Given the description of an element on the screen output the (x, y) to click on. 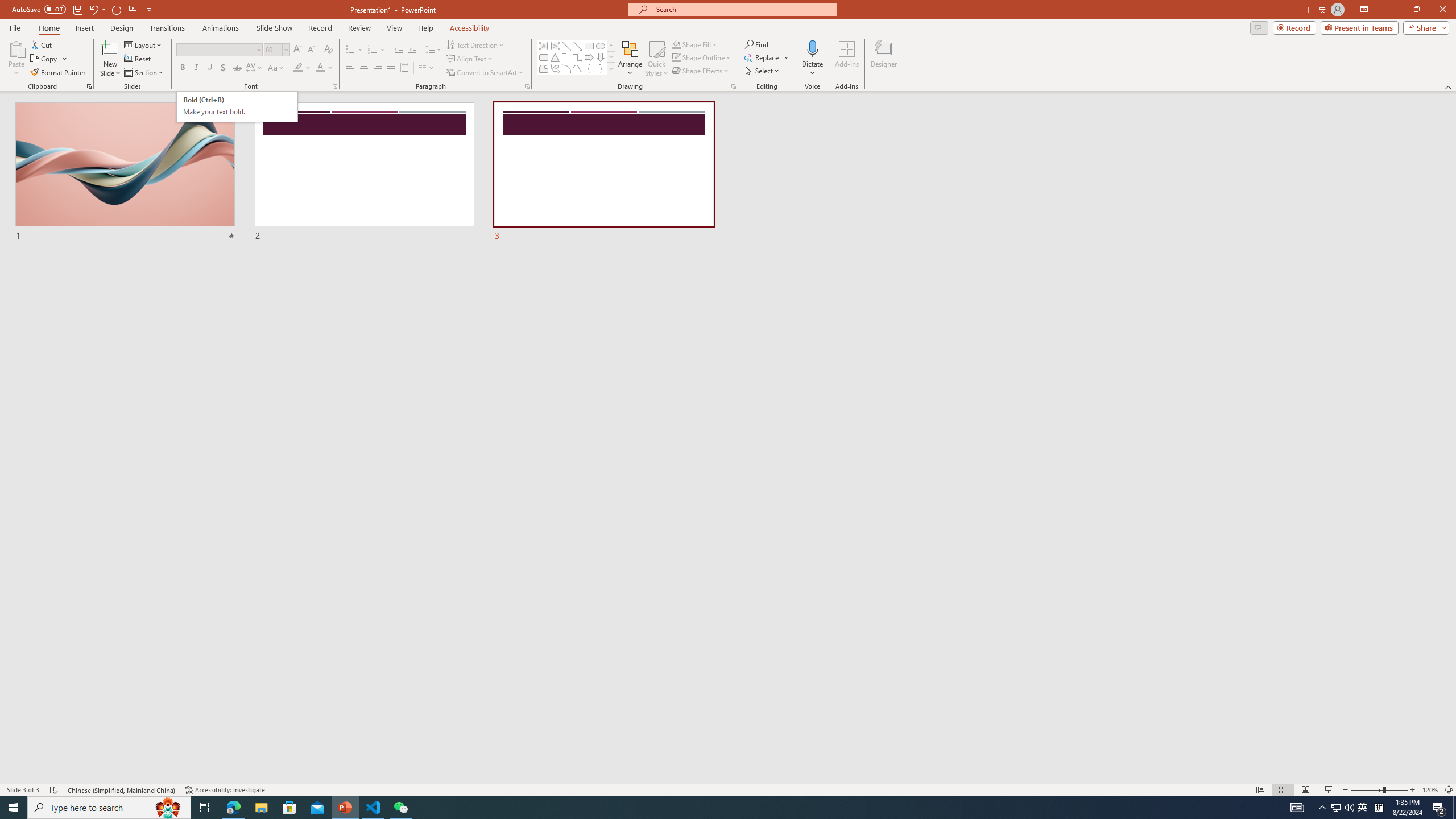
Help (425, 28)
Convert to SmartArt (485, 72)
Transitions (167, 28)
Reading View (1305, 790)
Arrow: Right (589, 57)
Text Direction (476, 44)
Dictate (812, 48)
Collapse the Ribbon (1448, 86)
Select (762, 69)
Decrease Indent (398, 49)
Present in Teams (1359, 27)
Text Highlight Color Yellow (297, 67)
Freeform: Scribble (554, 68)
Restore Down (1416, 9)
Zoom to Fit  (1449, 790)
